Given the description of an element on the screen output the (x, y) to click on. 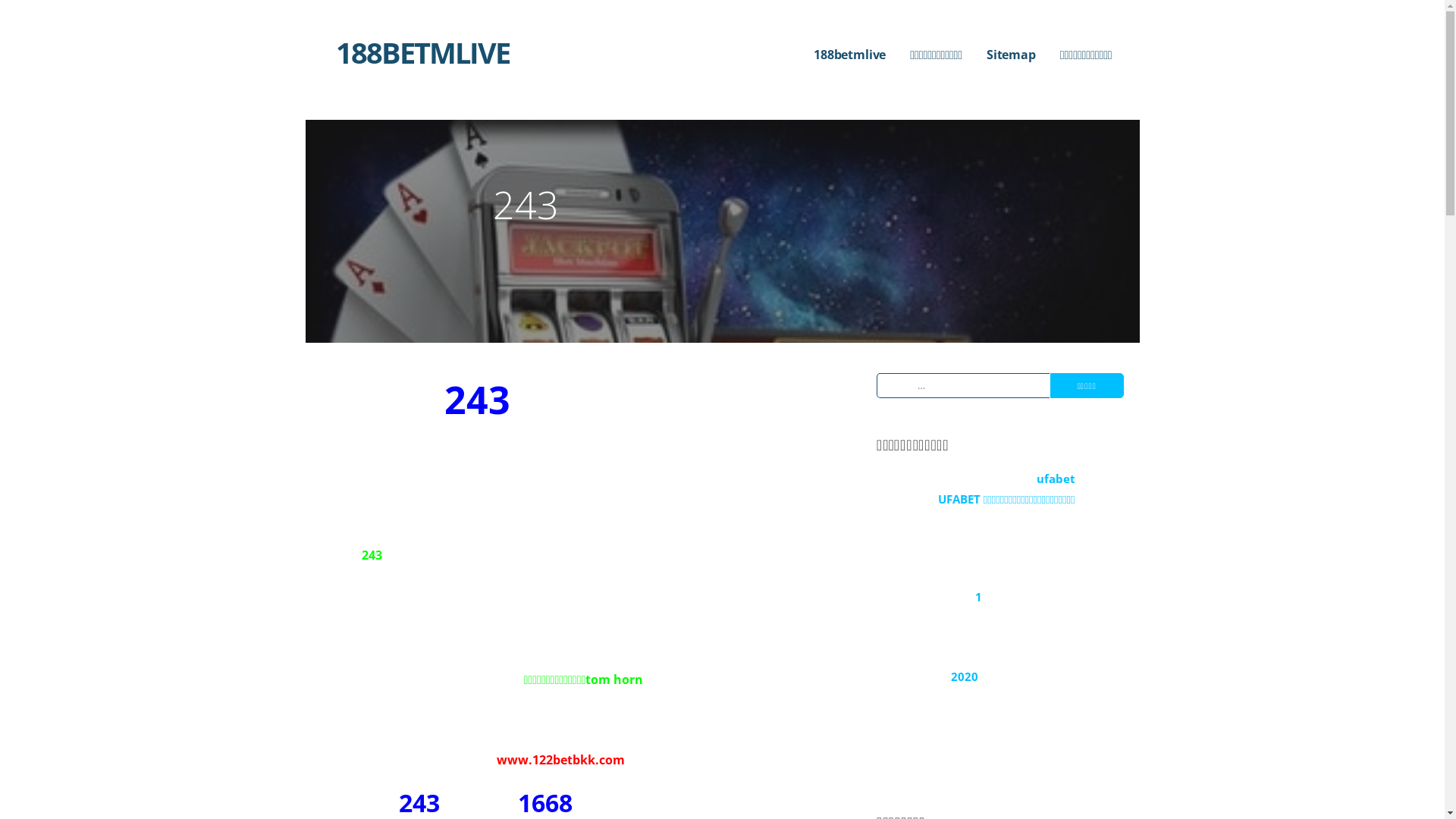
Sitemap Element type: text (1010, 55)
188betmlive Element type: text (849, 55)
188BETMLIVE Element type: text (421, 52)
www.122betbkk.com Element type: text (559, 759)
